Given the description of an element on the screen output the (x, y) to click on. 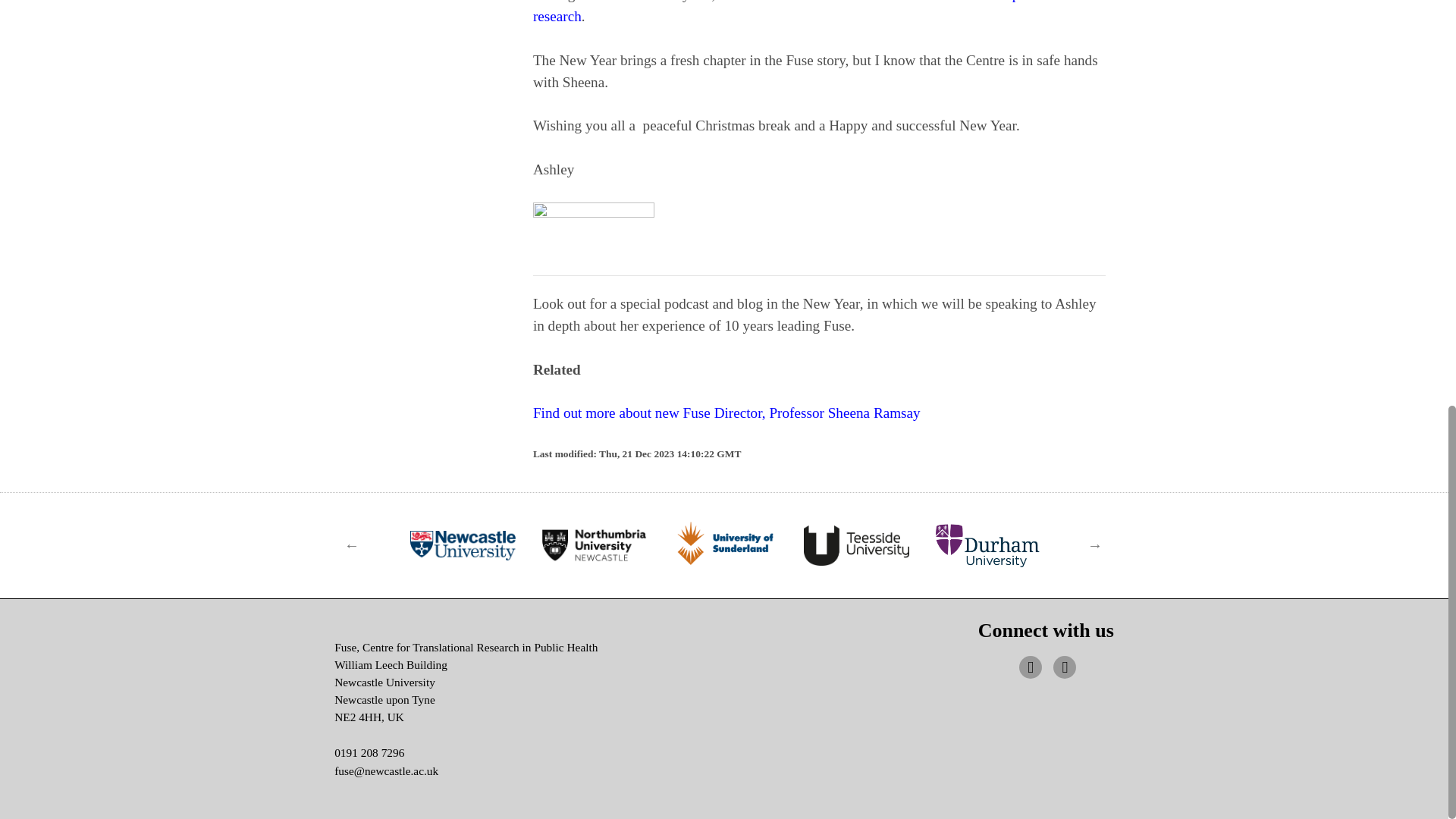
service for public health research (809, 12)
NEXT (1095, 544)
PREVIOUS (352, 544)
